Given the description of an element on the screen output the (x, y) to click on. 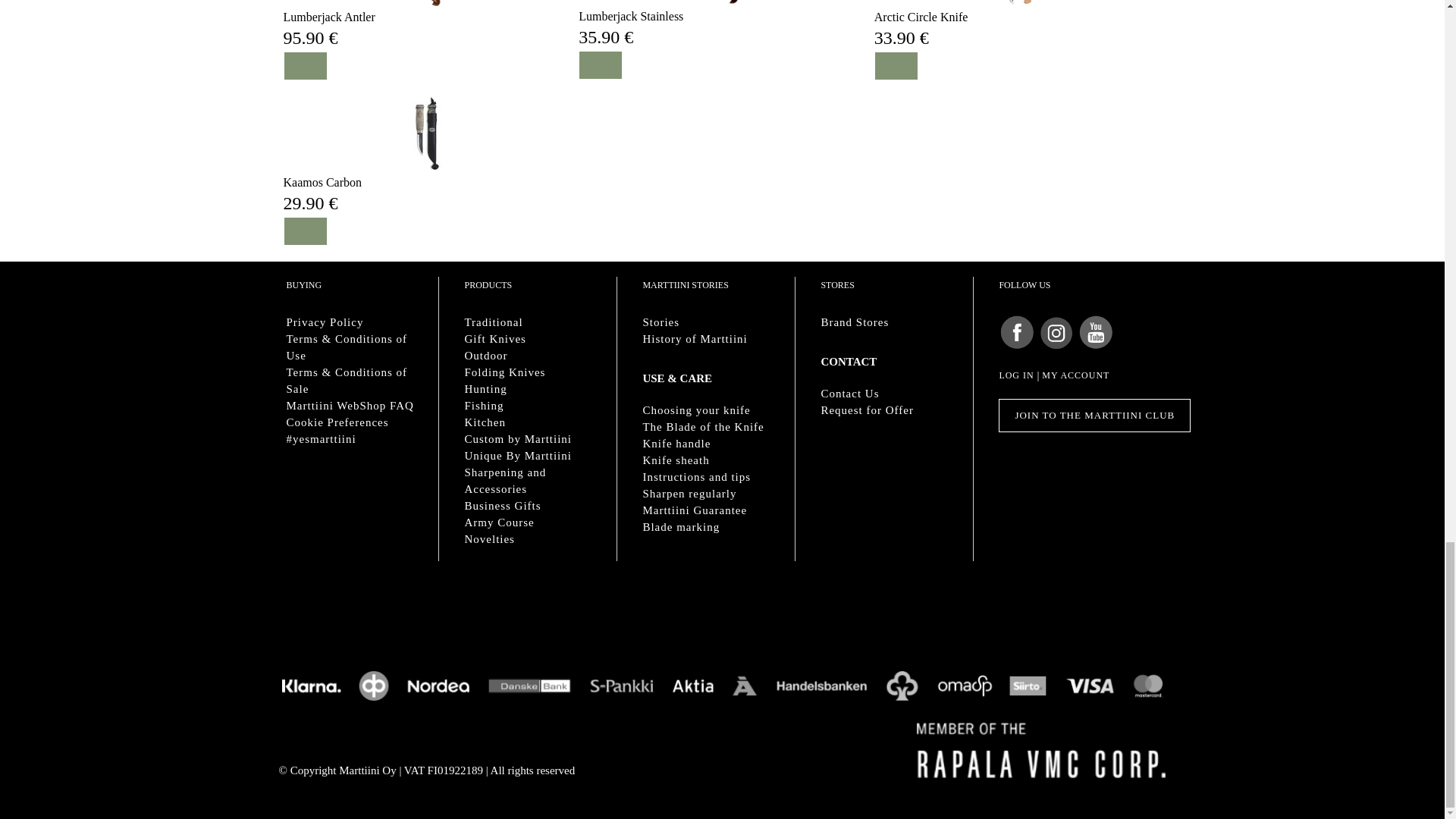
Go to product (322, 182)
Go to product (1017, 2)
Add to basket (304, 230)
Go to product (426, 2)
Go to product (329, 17)
Add to basket (304, 65)
Go to product (921, 17)
Add to basket (600, 64)
Add to basket (896, 65)
Go to product (630, 16)
Go to product (721, 2)
